Given the description of an element on the screen output the (x, y) to click on. 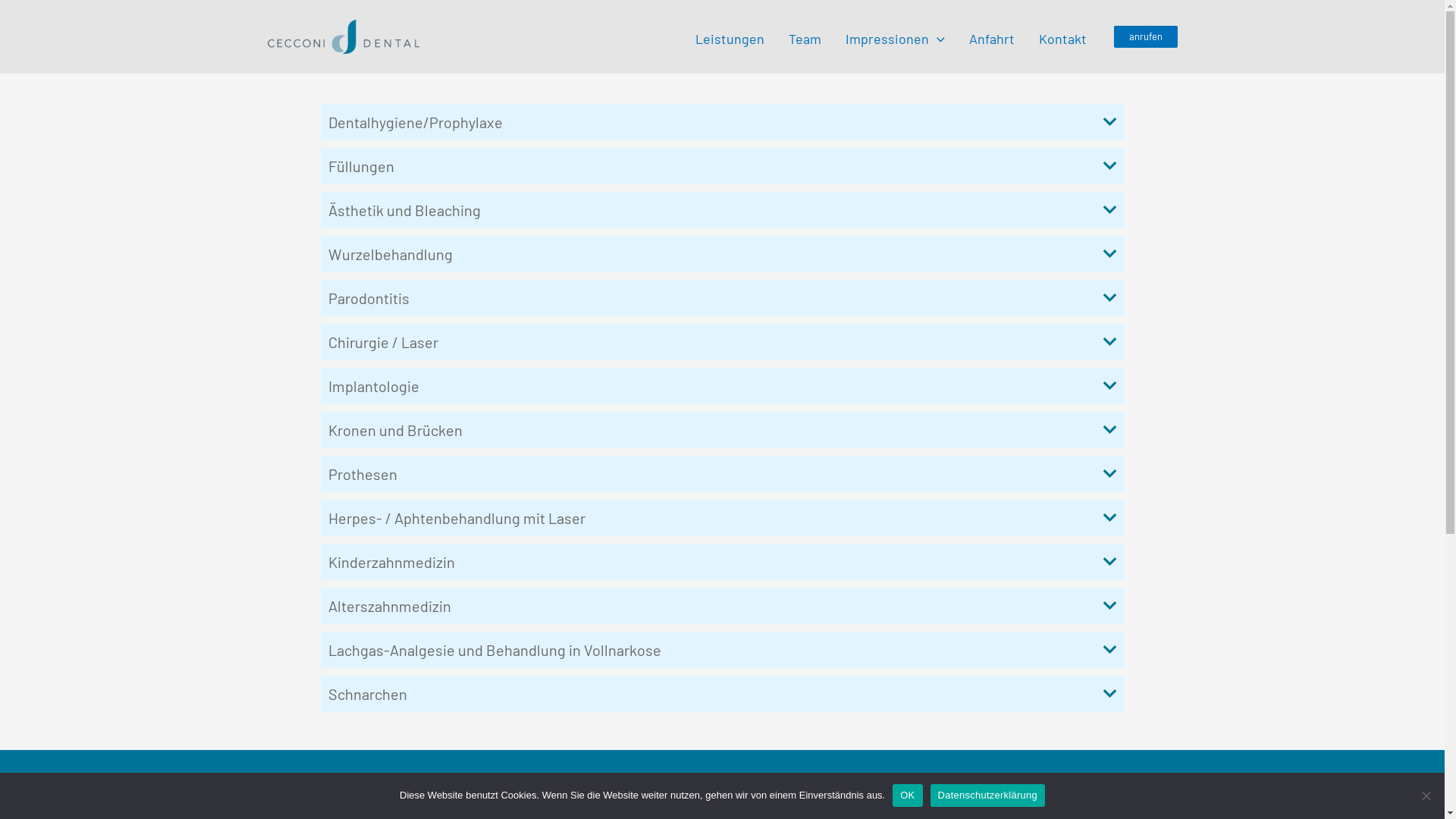
Impressionen Element type: text (895, 36)
Nein Element type: hover (1425, 795)
Kontakt Element type: text (1062, 36)
OK Element type: text (907, 795)
Leistungen Element type: text (729, 36)
Anfahrt Element type: text (991, 36)
anrufen Element type: text (1144, 36)
Team Element type: text (804, 36)
